Given the description of an element on the screen output the (x, y) to click on. 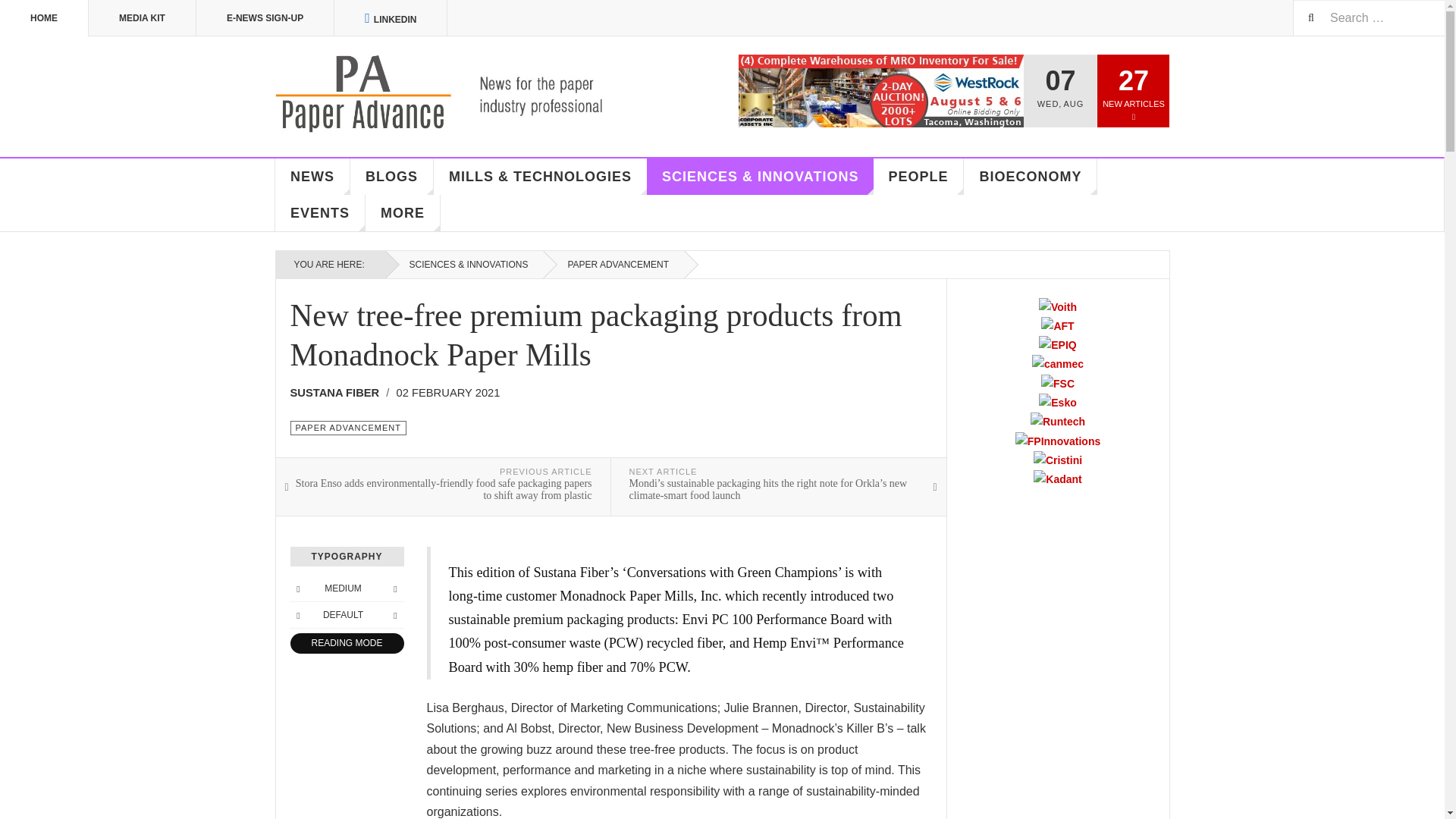
NEWS (312, 176)
MEDIA KIT (142, 18)
HOME (44, 18)
LINKEDIN (390, 18)
E-NEWS SIGN-UP (265, 18)
Paper Advance (461, 93)
